Given the description of an element on the screen output the (x, y) to click on. 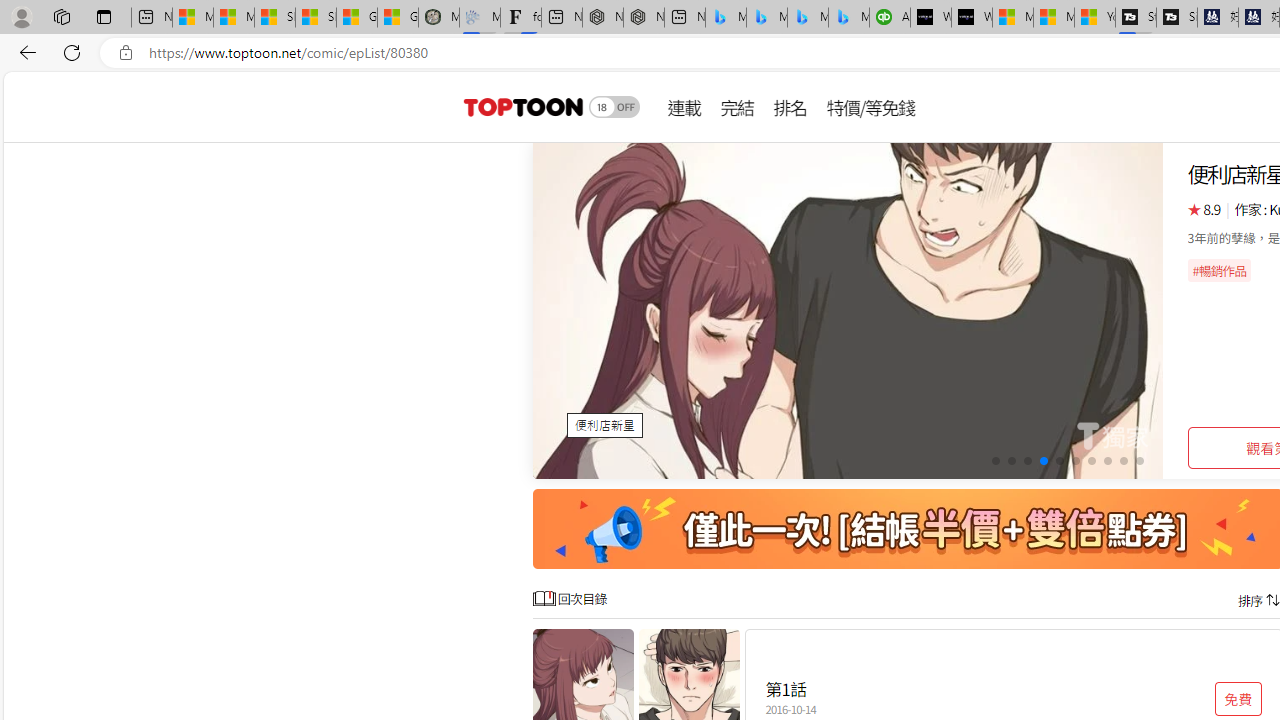
Personal Profile (21, 16)
Go to slide 2 (1011, 461)
Refresh (72, 52)
Go to slide 7 (1090, 461)
Class: swiper-slide (847, 310)
Class: swiper-slide swiper-slide-prev (847, 310)
Workspaces (61, 16)
header (519, 106)
Shanghai, China weather forecast | Microsoft Weather (315, 17)
Tab actions menu (104, 16)
Go to slide 3 (1026, 461)
